Given the description of an element on the screen output the (x, y) to click on. 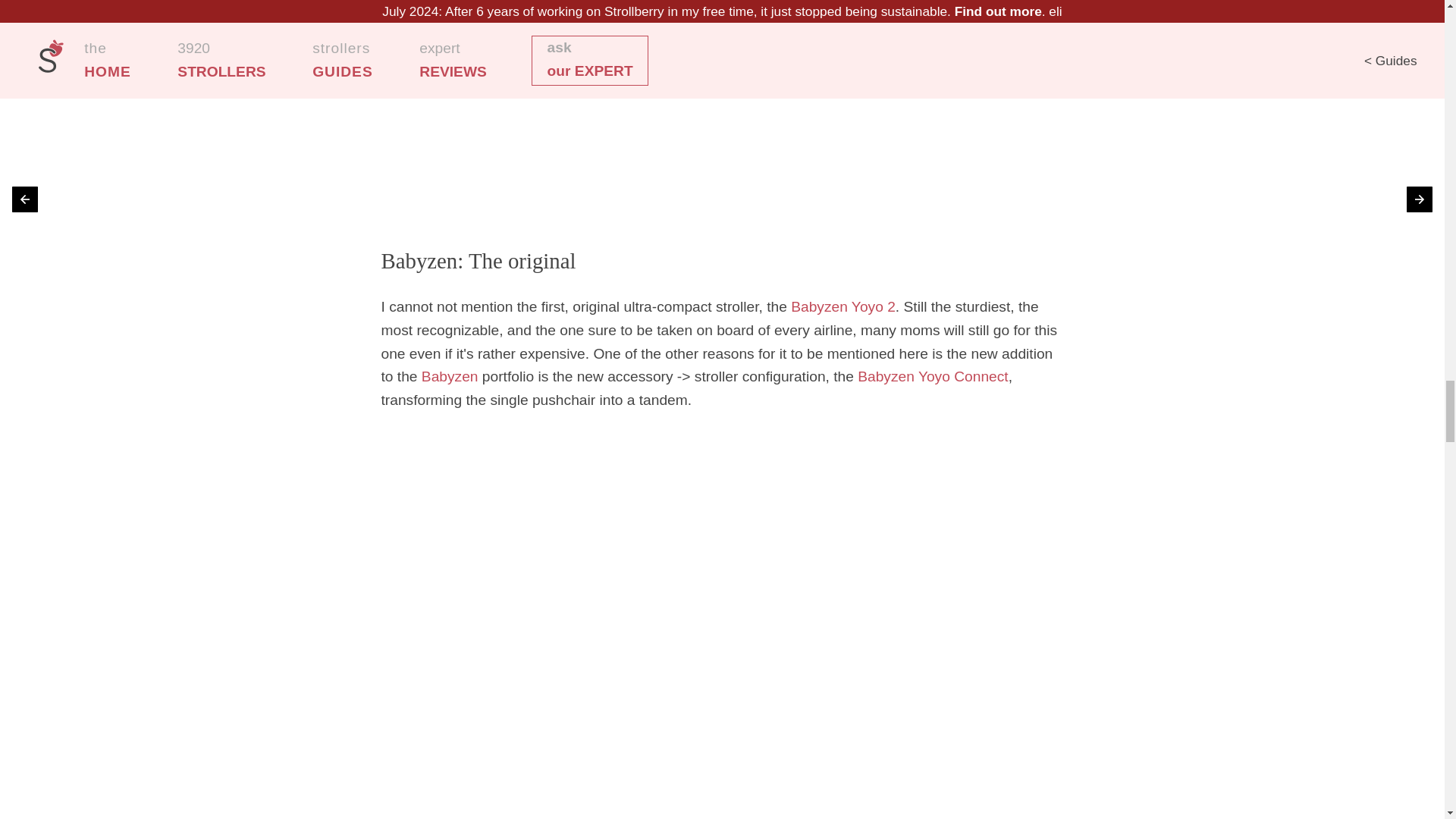
Previous item in carousel (24, 199)
Next item in carousel (1419, 199)
Babyzen Yoyo 2 (842, 306)
Babyzen Yoyo Connect (932, 376)
Babyzen (450, 376)
